Given the description of an element on the screen output the (x, y) to click on. 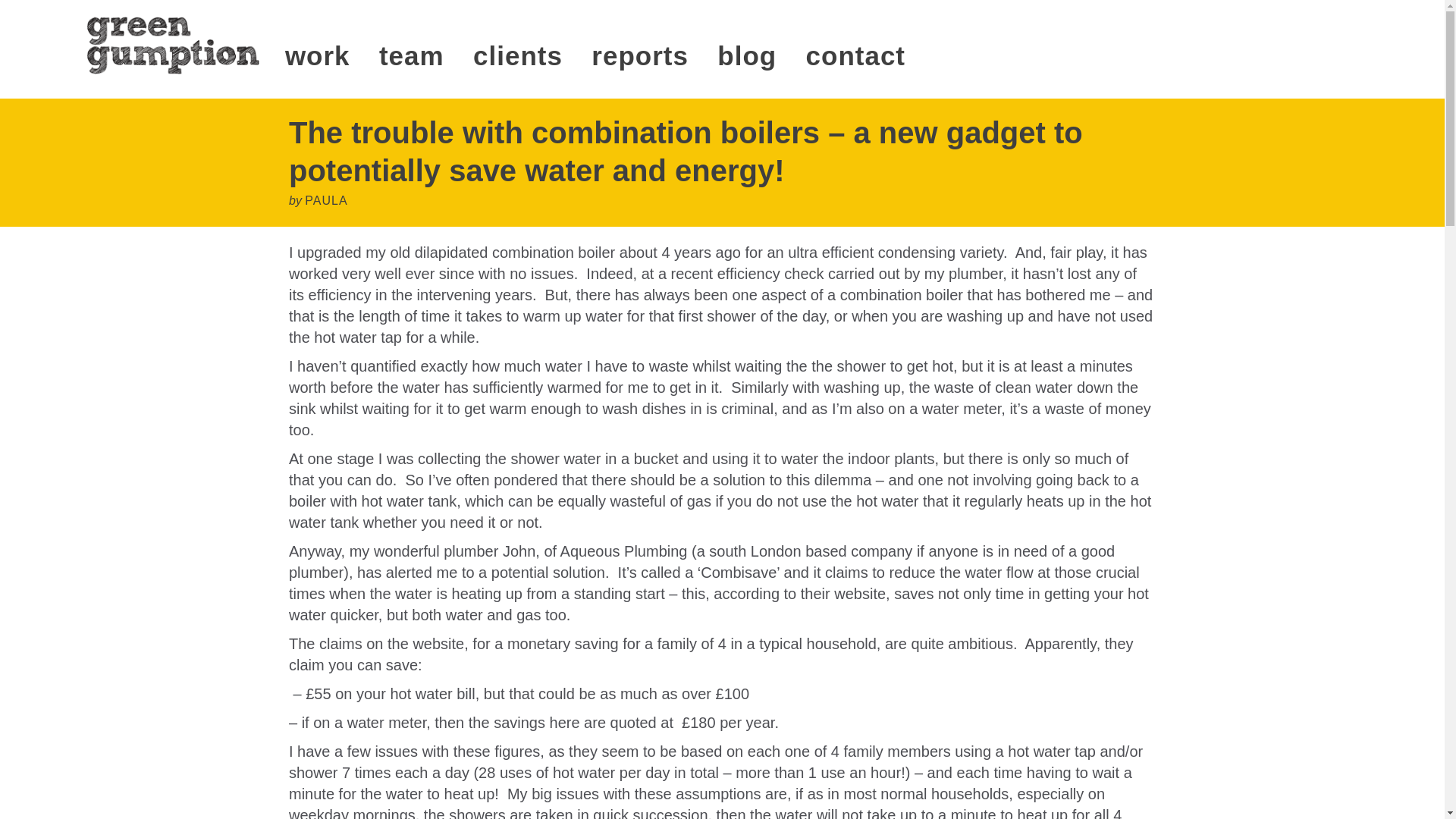
team (411, 55)
contact (855, 55)
blog (746, 55)
reports (639, 55)
work (317, 55)
clients (517, 55)
